Given the description of an element on the screen output the (x, y) to click on. 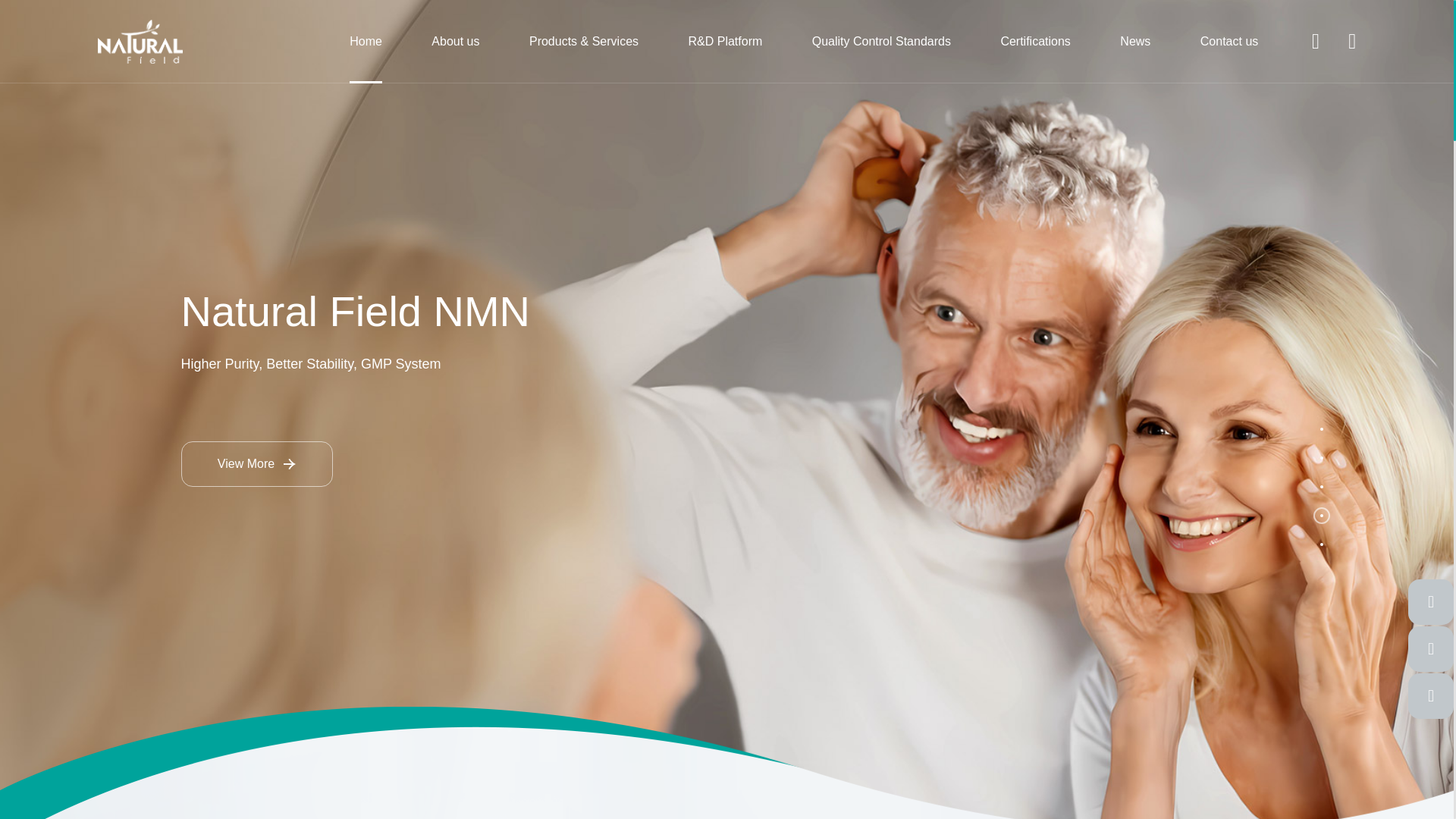
Quality Control Standards (881, 41)
